Given the description of an element on the screen output the (x, y) to click on. 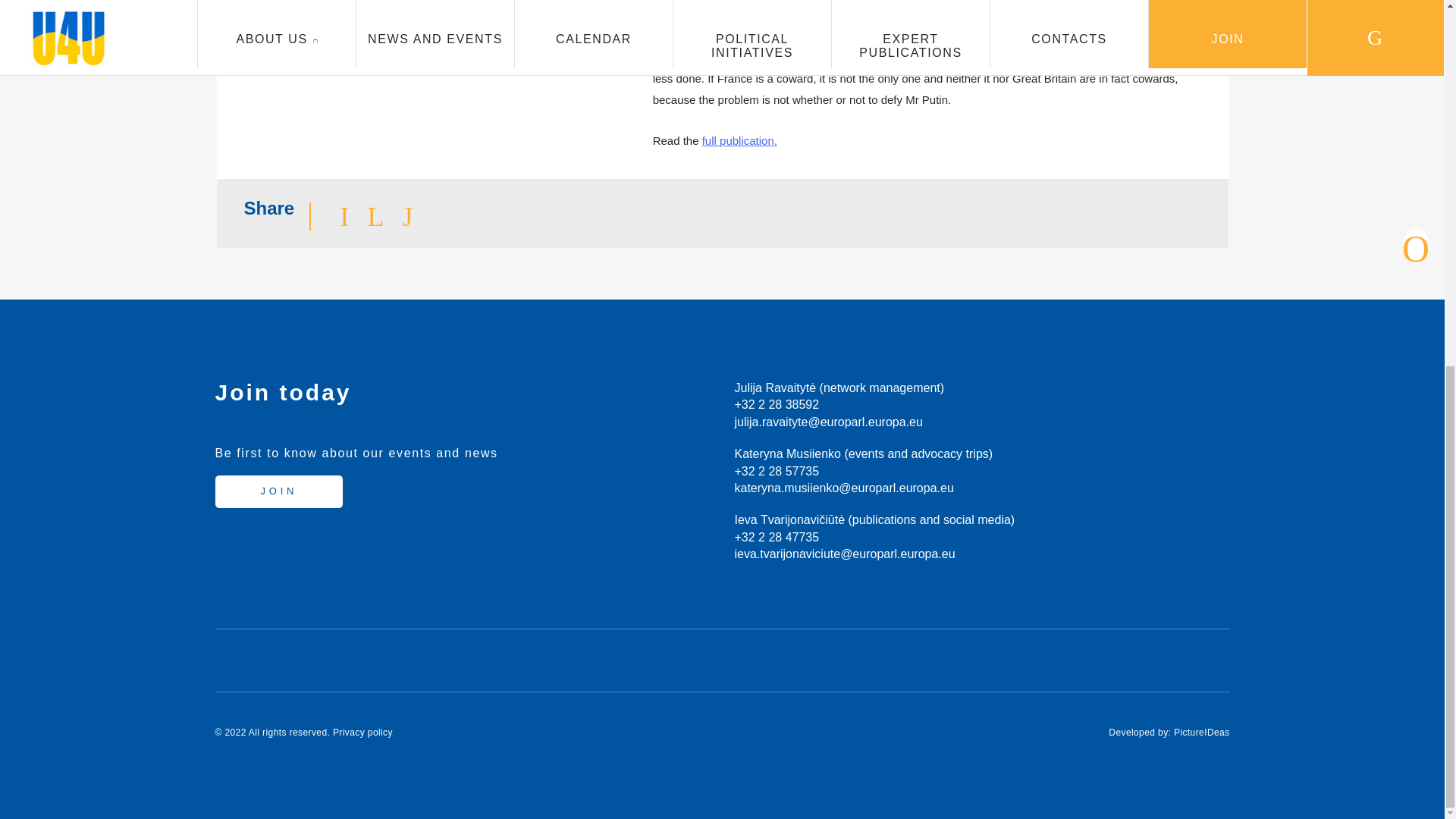
JOIN (279, 491)
Privacy policy (363, 733)
full publication. (739, 140)
PictureIDeas (1201, 733)
